Given the description of an element on the screen output the (x, y) to click on. 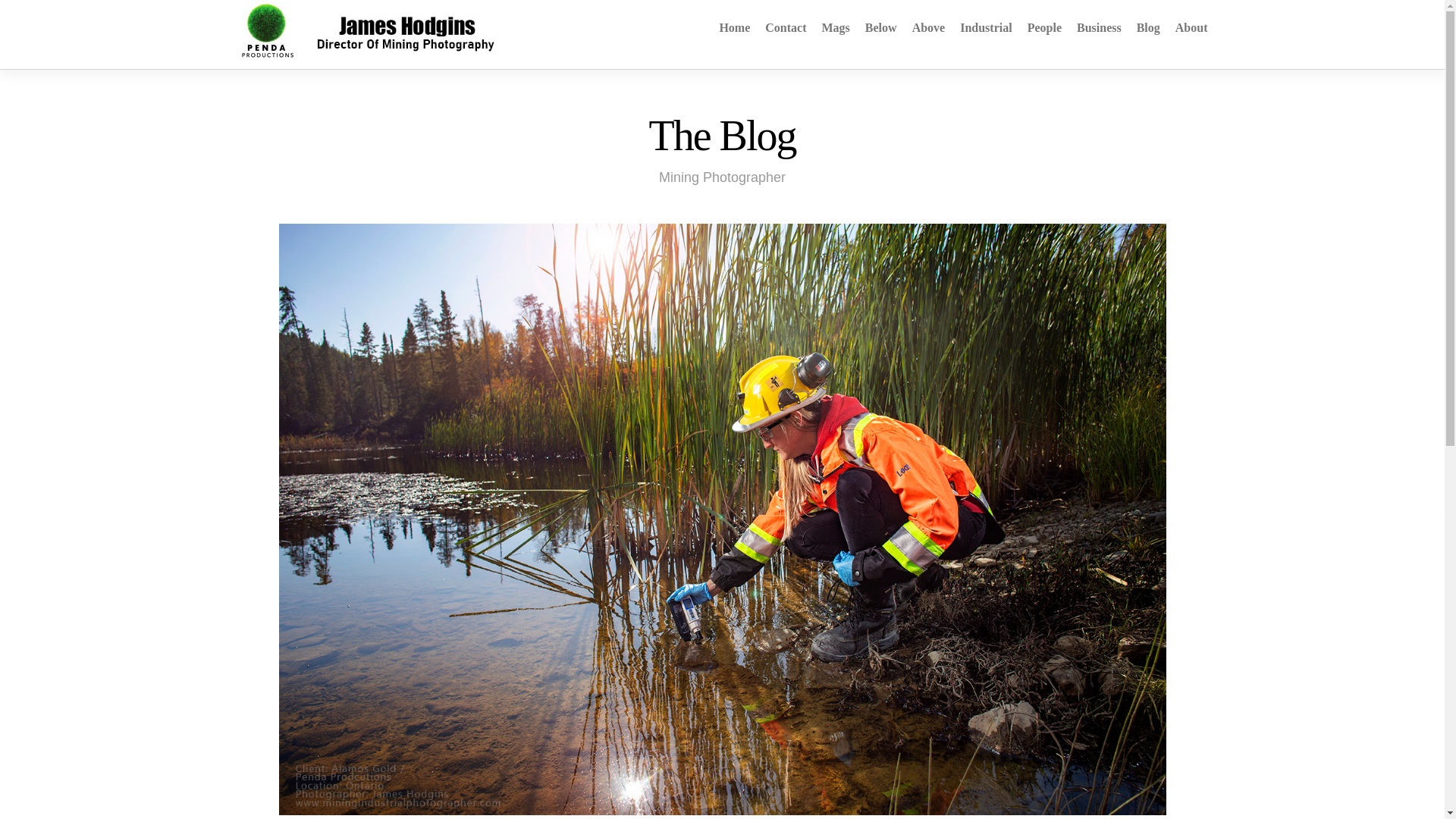
Above (928, 27)
About (1191, 27)
Mags (836, 27)
Below (880, 27)
Business (1099, 27)
Home (734, 27)
Contact (785, 27)
Industrial (985, 27)
People (1044, 27)
Blog (1148, 27)
